Given the description of an element on the screen output the (x, y) to click on. 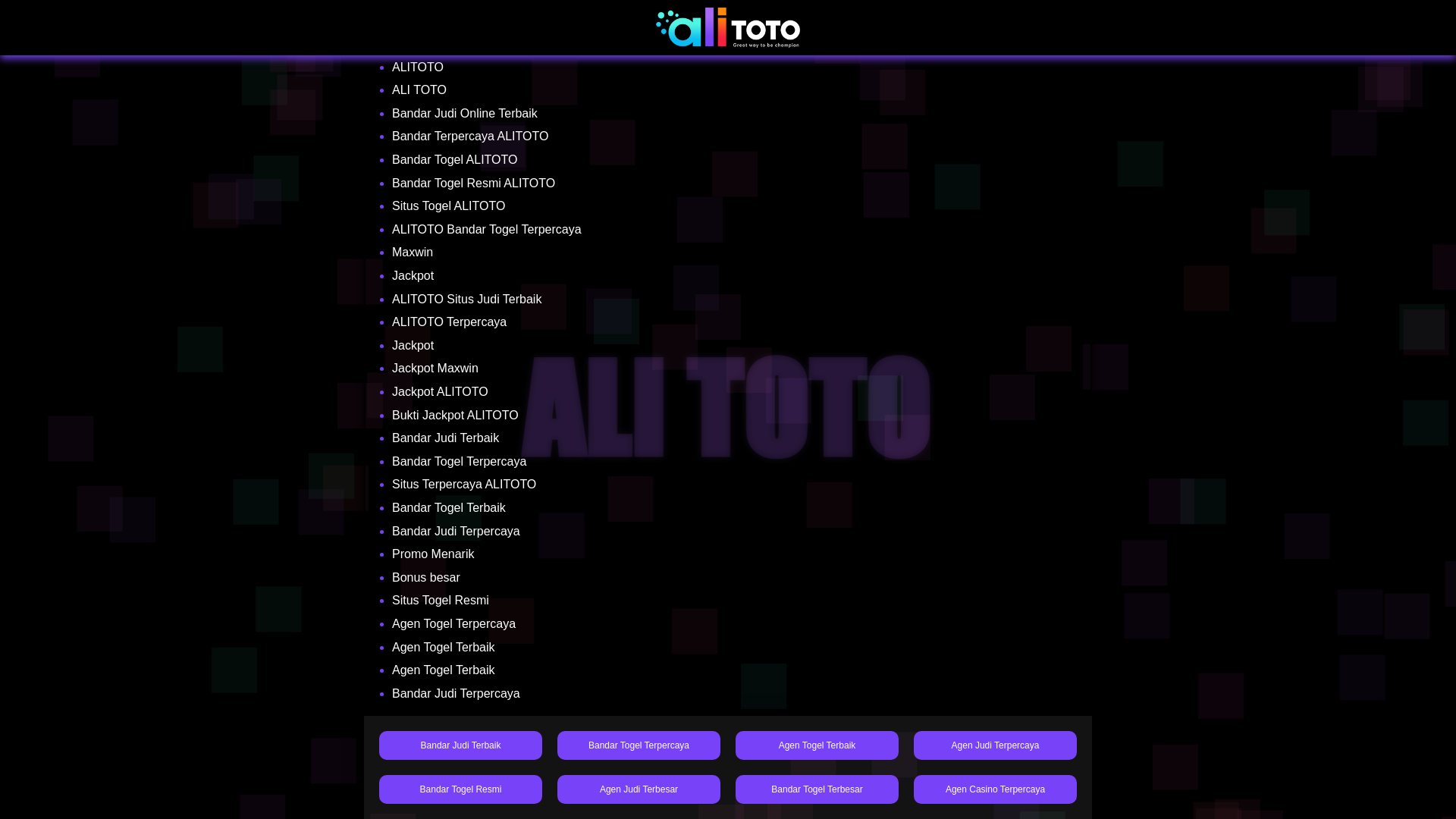
Agen Togel Terbaik (816, 745)
Agen Judi Terbesar (638, 788)
Agen Judi Terpercaya (995, 745)
Bandar Togel Terbesar (816, 788)
Bandar Togel Terpercaya (638, 745)
Bandar Judi Terbaik (459, 745)
Agen Casino Terpercaya (995, 788)
Bandar Togel Resmi (459, 788)
